Given the description of an element on the screen output the (x, y) to click on. 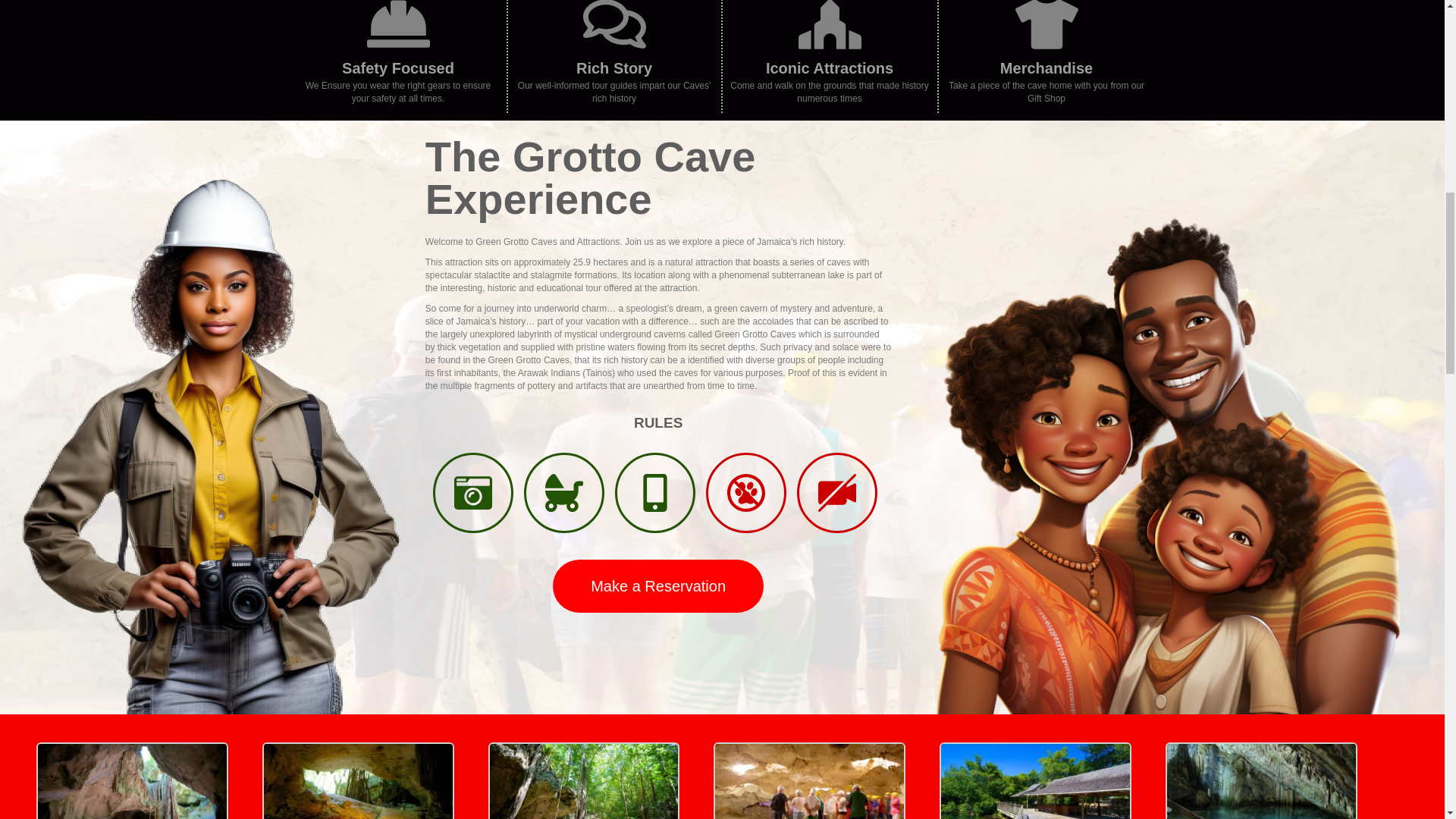
Merchandise (1046, 67)
Rich Story (614, 67)
Safety Focused (398, 67)
Iconic Attractions (829, 67)
Make a Reservation (657, 585)
